Given the description of an element on the screen output the (x, y) to click on. 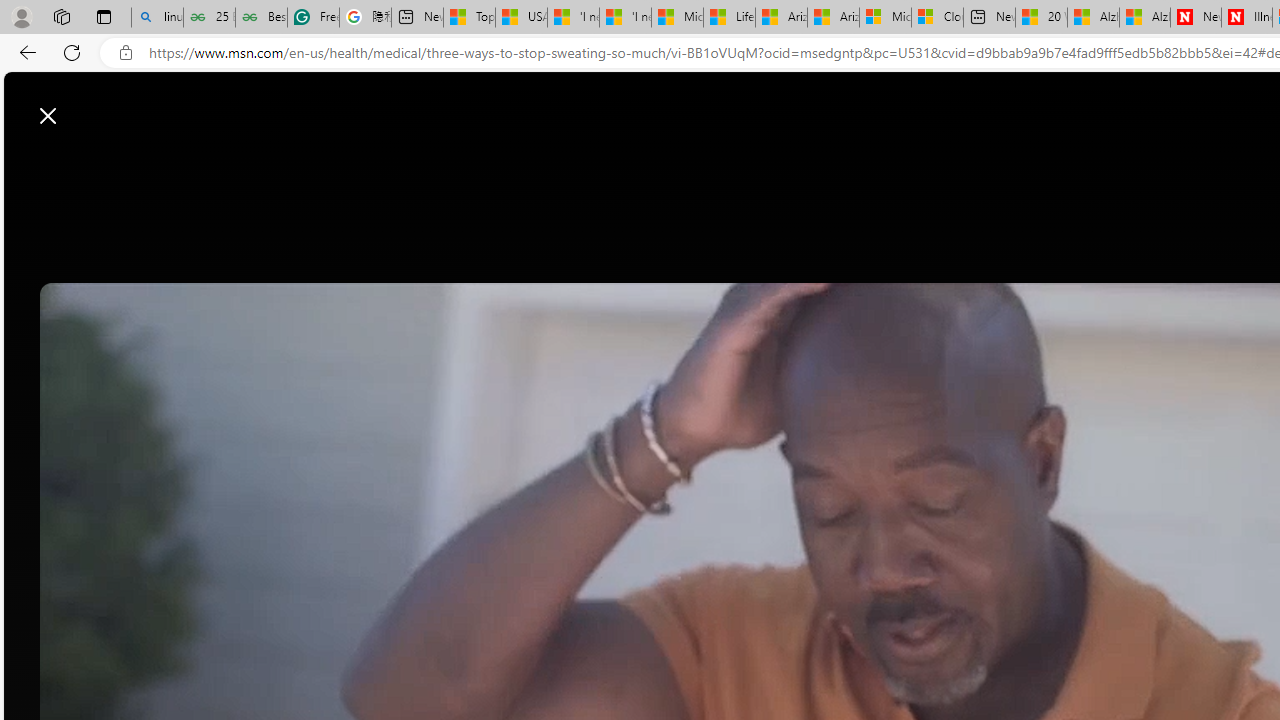
Watch (548, 162)
Newsweek - News, Analysis, Politics, Business, Technology (1196, 17)
Open navigation menu (320, 162)
Microsoft Services Agreement (885, 17)
linux basic - Search (157, 17)
25 Basic Linux Commands For Beginners - GeeksforGeeks (209, 17)
Cloud Computing Services | Microsoft Azure (936, 17)
